Given the description of an element on the screen output the (x, y) to click on. 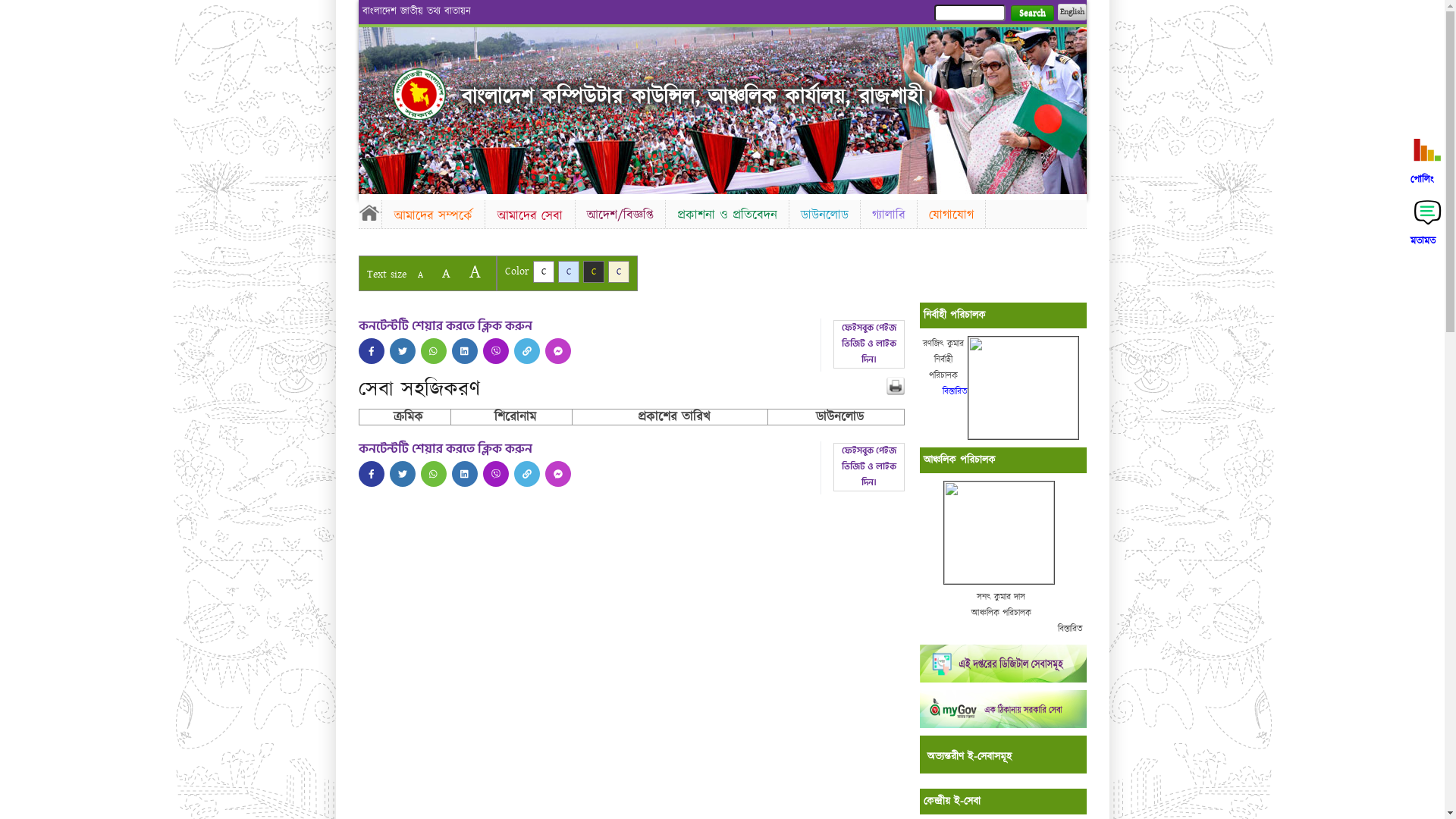
A Element type: text (419, 274)
C Element type: text (592, 271)
A Element type: text (445, 273)
Search Element type: text (1031, 13)
English Element type: text (1071, 11)
C Element type: text (542, 271)
C Element type: text (618, 271)
Home Element type: hover (418, 93)
A Element type: text (474, 271)
C Element type: text (568, 271)
Home Element type: hover (368, 211)
